Given the description of an element on the screen output the (x, y) to click on. 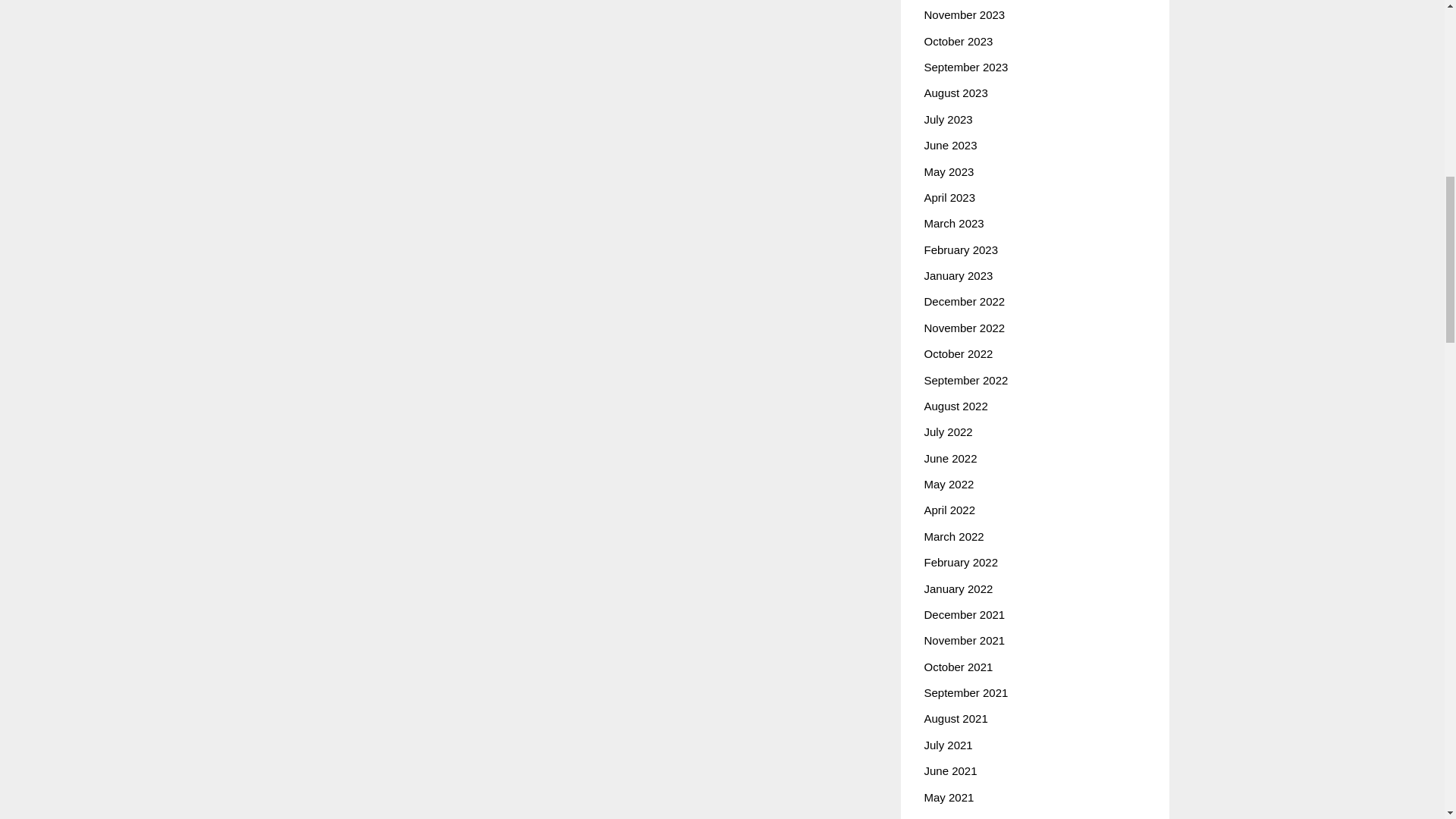
November 2023 (963, 14)
April 2023 (949, 196)
March 2023 (953, 223)
December 2022 (963, 300)
June 2023 (949, 144)
May 2023 (948, 171)
September 2023 (965, 66)
August 2023 (955, 92)
July 2023 (947, 119)
October 2023 (957, 41)
